Given the description of an element on the screen output the (x, y) to click on. 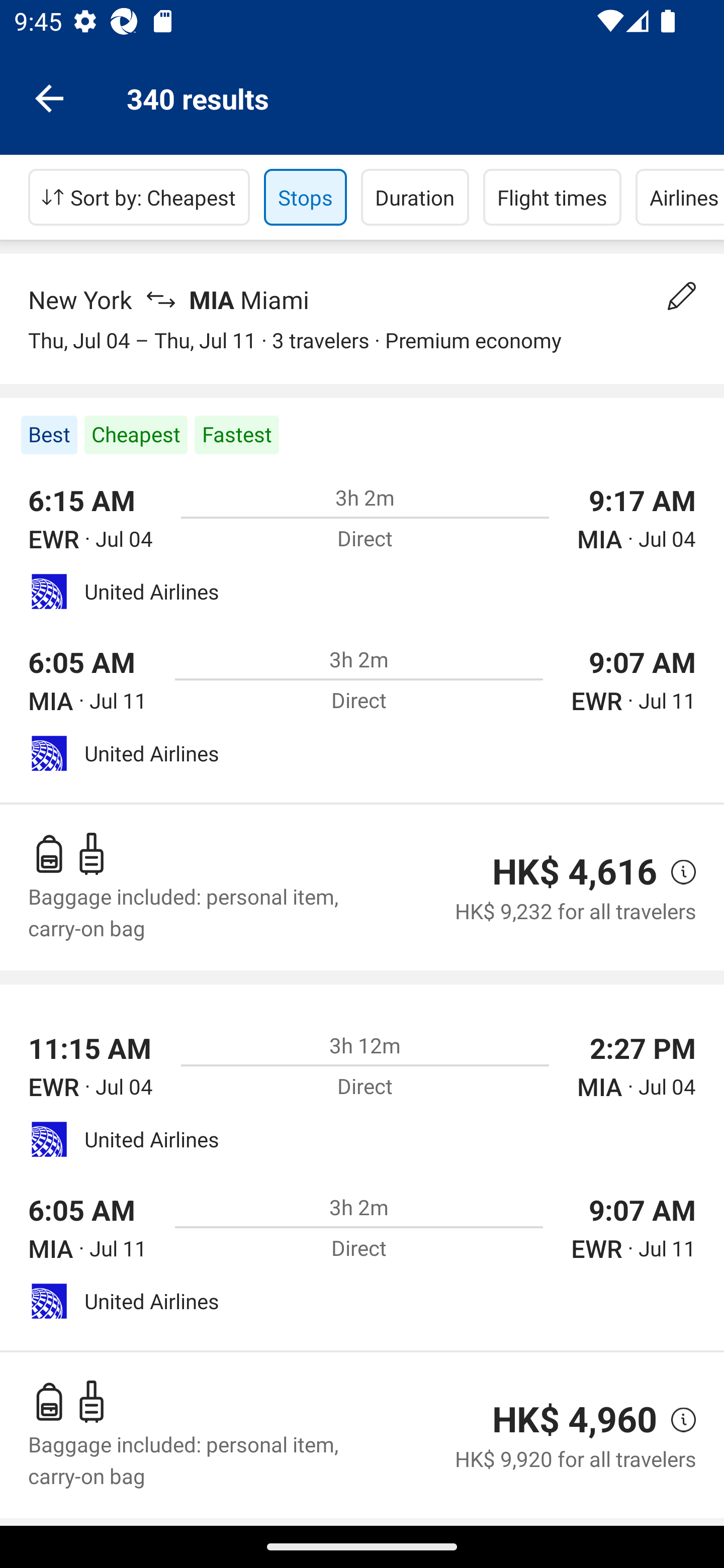
Navigate up (49, 97)
Sort by: Cheapest (138, 197)
Stops (305, 197)
Duration (415, 197)
Flight times (551, 197)
Airlines (679, 197)
Change your search details (681, 296)
HK$ 4,616 (574, 871)
view price details, opens a pop-up (676, 872)
HK$ 4,960 (574, 1419)
view price details, opens a pop-up (676, 1419)
